Given the description of an element on the screen output the (x, y) to click on. 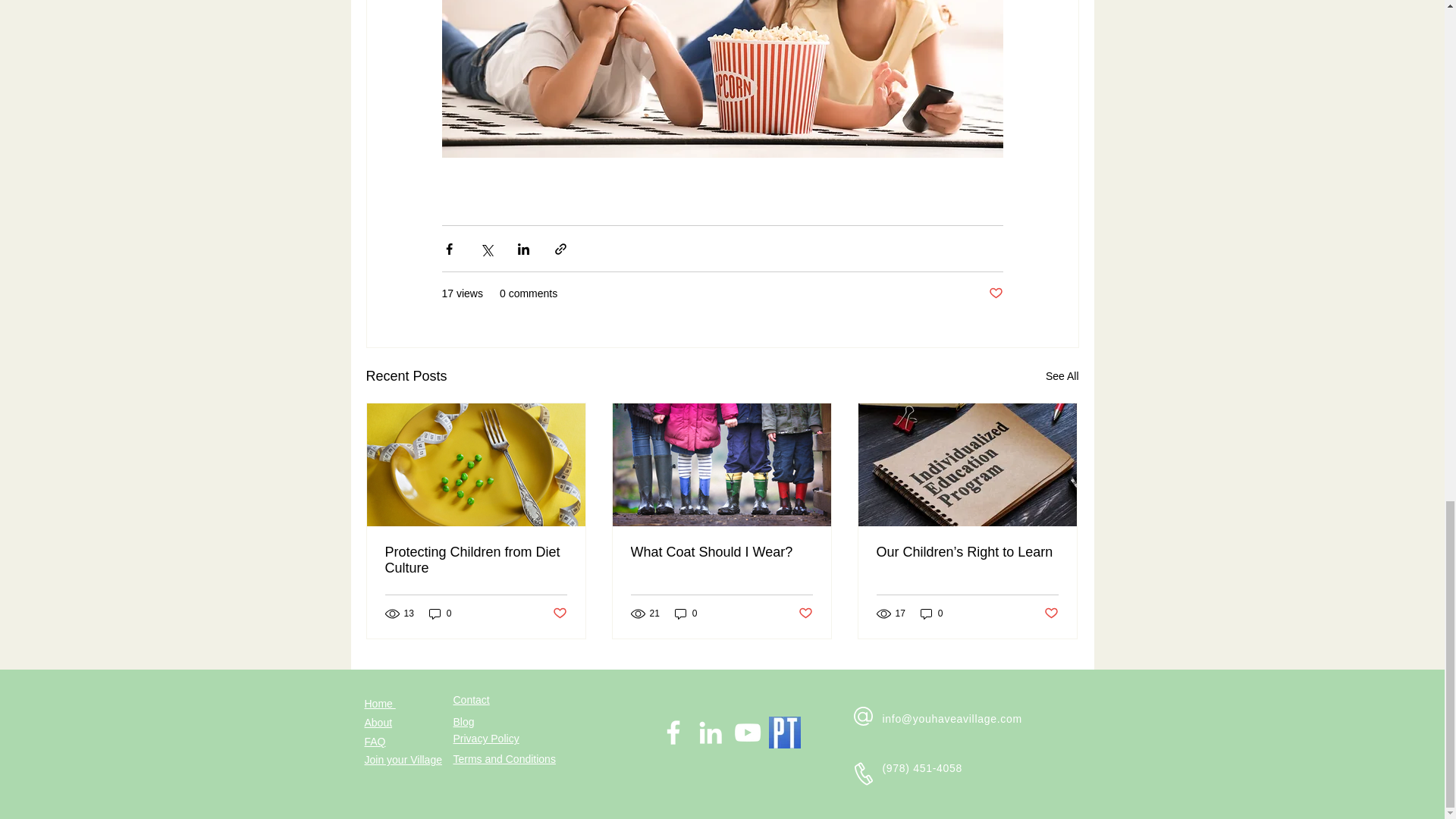
What Coat Should I Wear? (721, 552)
Protecting Children from Diet Culture (476, 560)
Post not marked as liked (558, 613)
0 (440, 613)
0 (685, 613)
Post not marked as liked (995, 293)
See All (1061, 376)
